Given the description of an element on the screen output the (x, y) to click on. 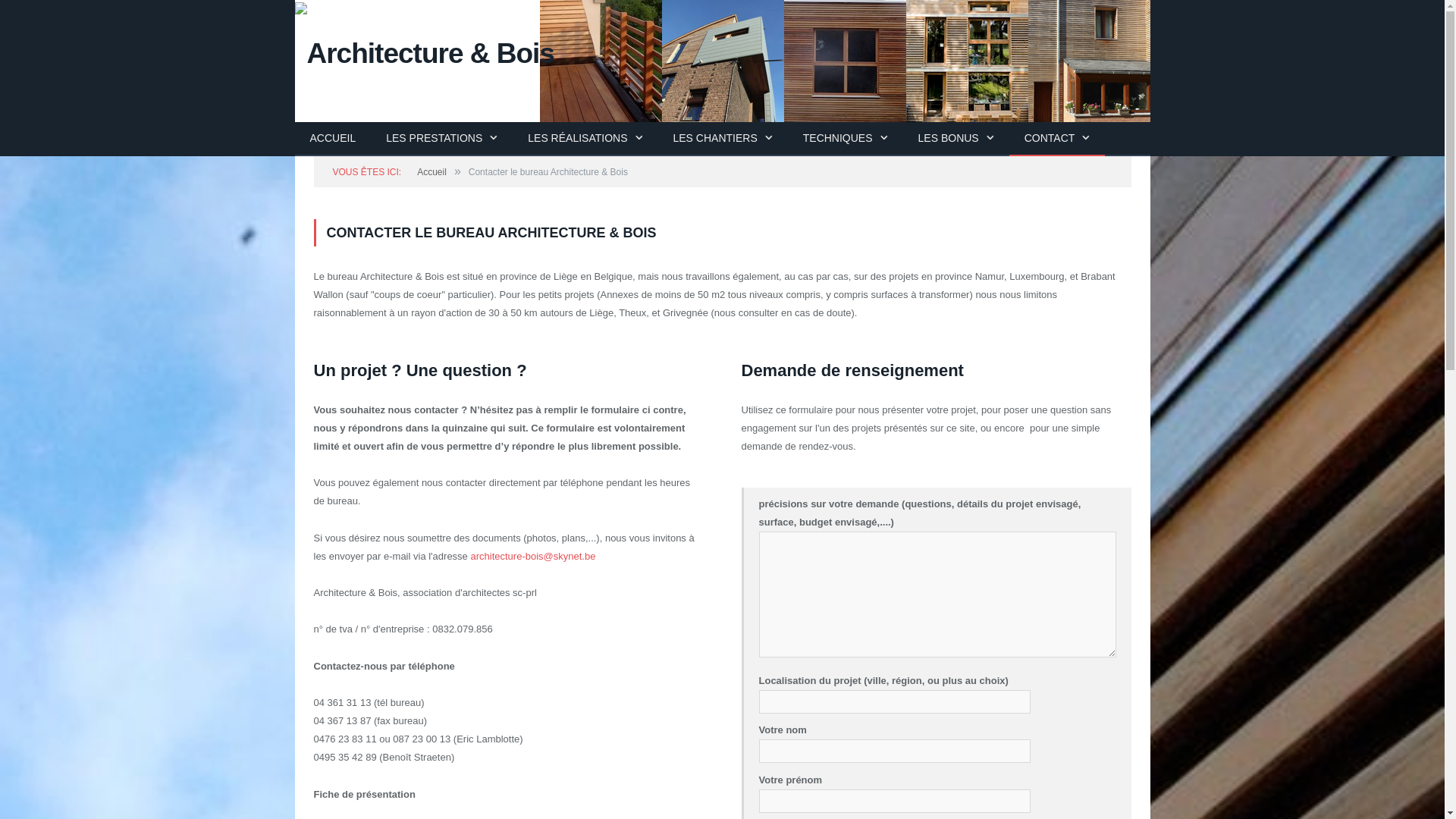
LES CHANTIERS Element type: text (722, 139)
CONTACT Element type: text (1057, 139)
LES PRESTATIONS Element type: text (441, 139)
TECHNIQUES Element type: text (845, 139)
architecture-bois@skynet.be Element type: text (532, 555)
Accueil Element type: text (431, 171)
ACCUEIL Element type: text (332, 139)
Architecture & Bois Element type: hover (423, 50)
LES BONUS Element type: text (956, 139)
